Given the description of an element on the screen output the (x, y) to click on. 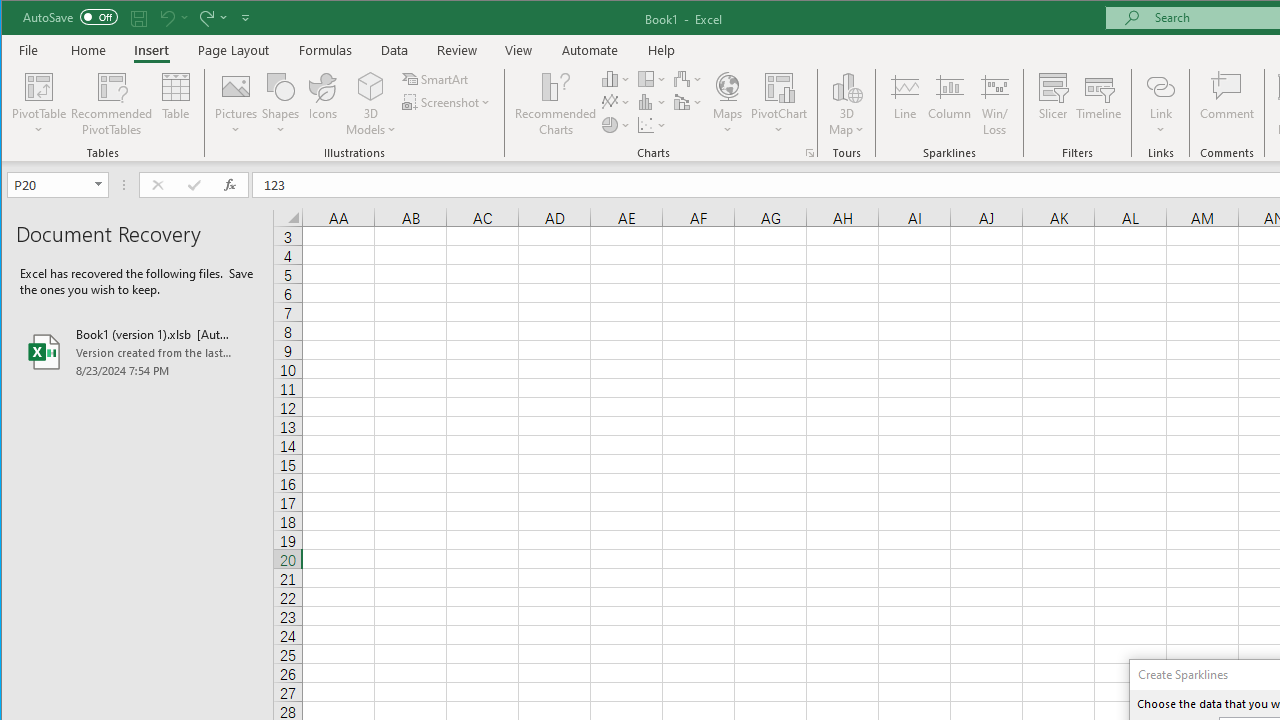
Insert Pie or Doughnut Chart (616, 124)
3D Map (846, 86)
Timeline (1098, 104)
Recommended PivotTables (111, 104)
Insert Line or Area Chart (616, 101)
Insert Combo Chart (688, 101)
Link (1160, 86)
Line (904, 104)
SmartArt... (436, 78)
Link (1160, 104)
PivotChart (779, 104)
